Given the description of an element on the screen output the (x, y) to click on. 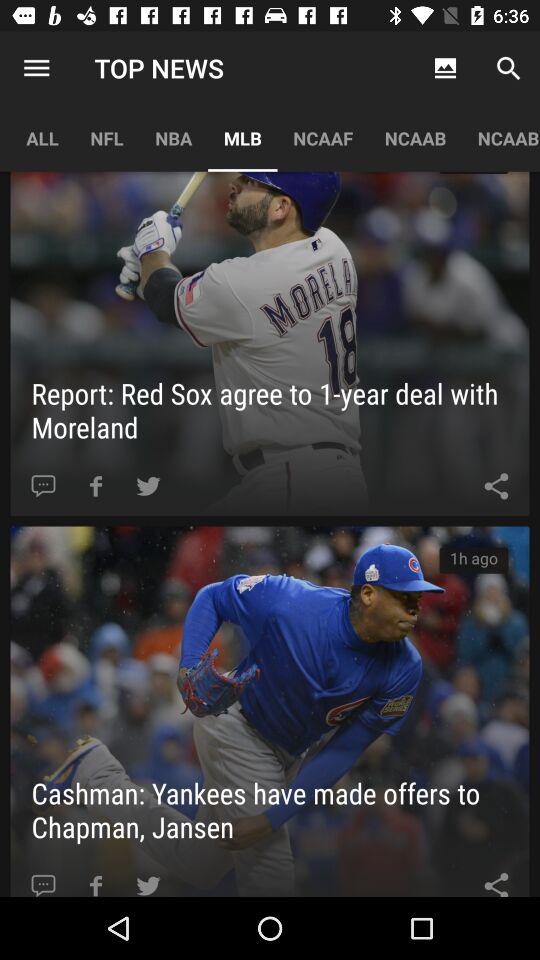
choose the icon above the ncaabbl (508, 67)
